Given the description of an element on the screen output the (x, y) to click on. 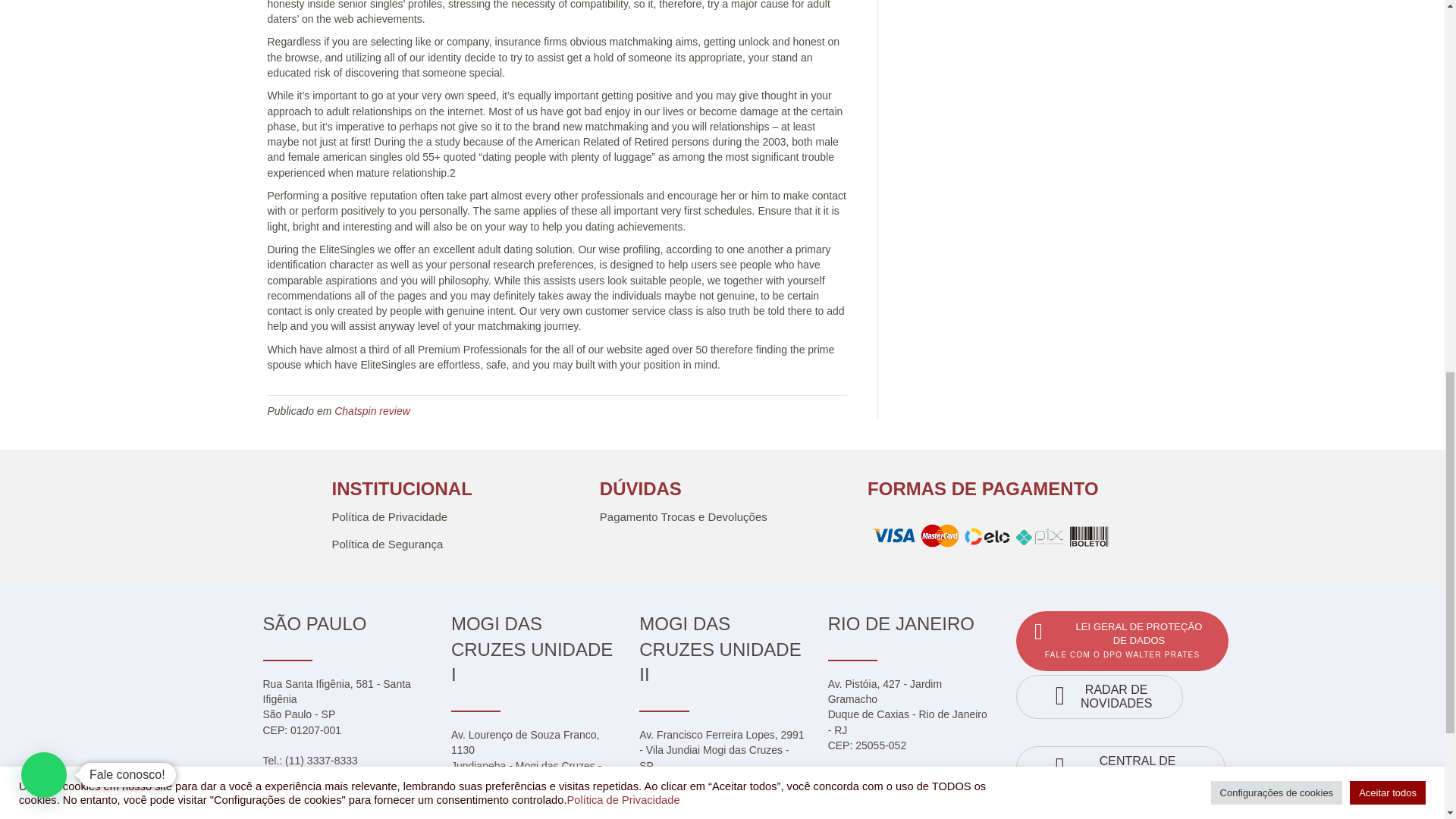
pagamento (989, 538)
Facebook (1038, 812)
Instagram (1094, 812)
YouTube (1150, 812)
